Given the description of an element on the screen output the (x, y) to click on. 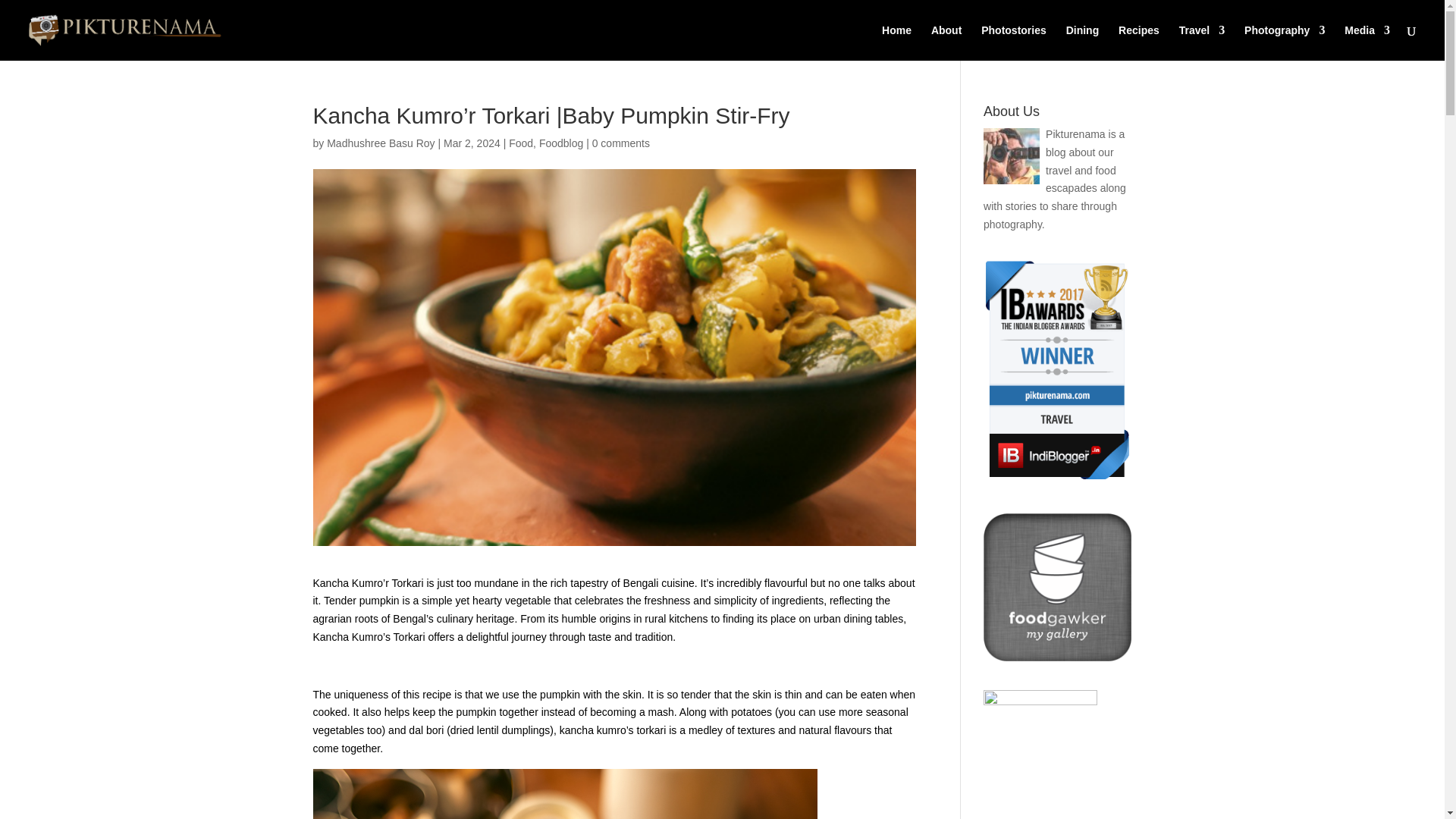
Posts by Madhushree Basu Roy (379, 143)
Photostories (1013, 42)
Recipes (1138, 42)
Dining (1082, 42)
Photography (1284, 42)
Visit holidify.com to discover Holiday Destinations in India (1040, 701)
Pikture  (1284, 42)
Travel (1201, 42)
Media (1366, 42)
my foodgawker gallery (1057, 657)
